Given the description of an element on the screen output the (x, y) to click on. 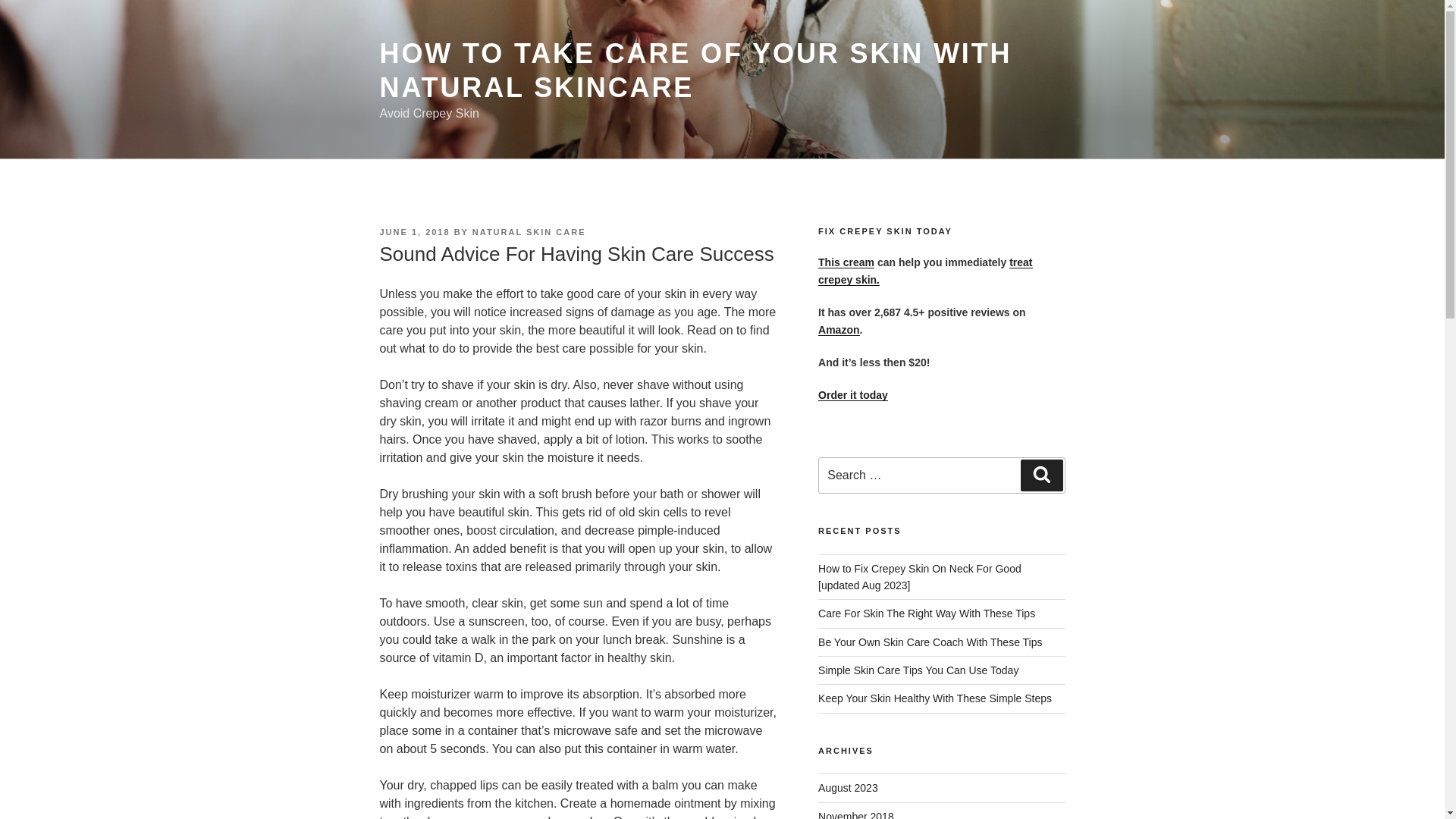
Be Your Own Skin Care Coach With These Tips (930, 642)
Simple Skin Care Tips You Can Use Today (917, 670)
Search (1041, 475)
treat crepey skin. (925, 270)
Order it today (853, 395)
JUNE 1, 2018 (413, 231)
NATURAL SKIN CARE (528, 231)
November 2018 (855, 814)
This cream (846, 262)
HOW TO TAKE CARE OF YOUR SKIN WITH NATURAL SKINCARE (694, 70)
